Given the description of an element on the screen output the (x, y) to click on. 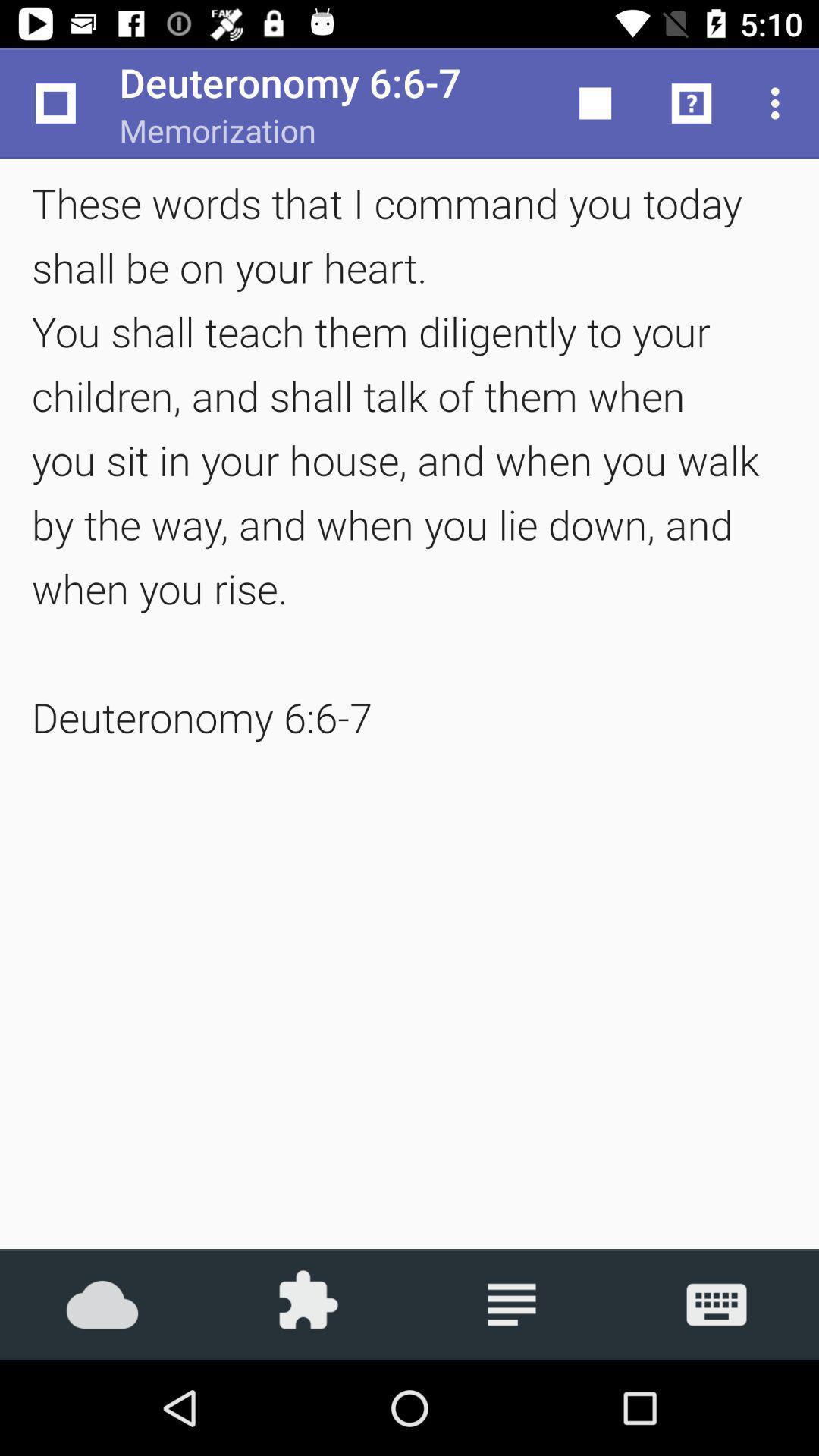
turn off the icon at the bottom left corner (102, 1304)
